Given the description of an element on the screen output the (x, y) to click on. 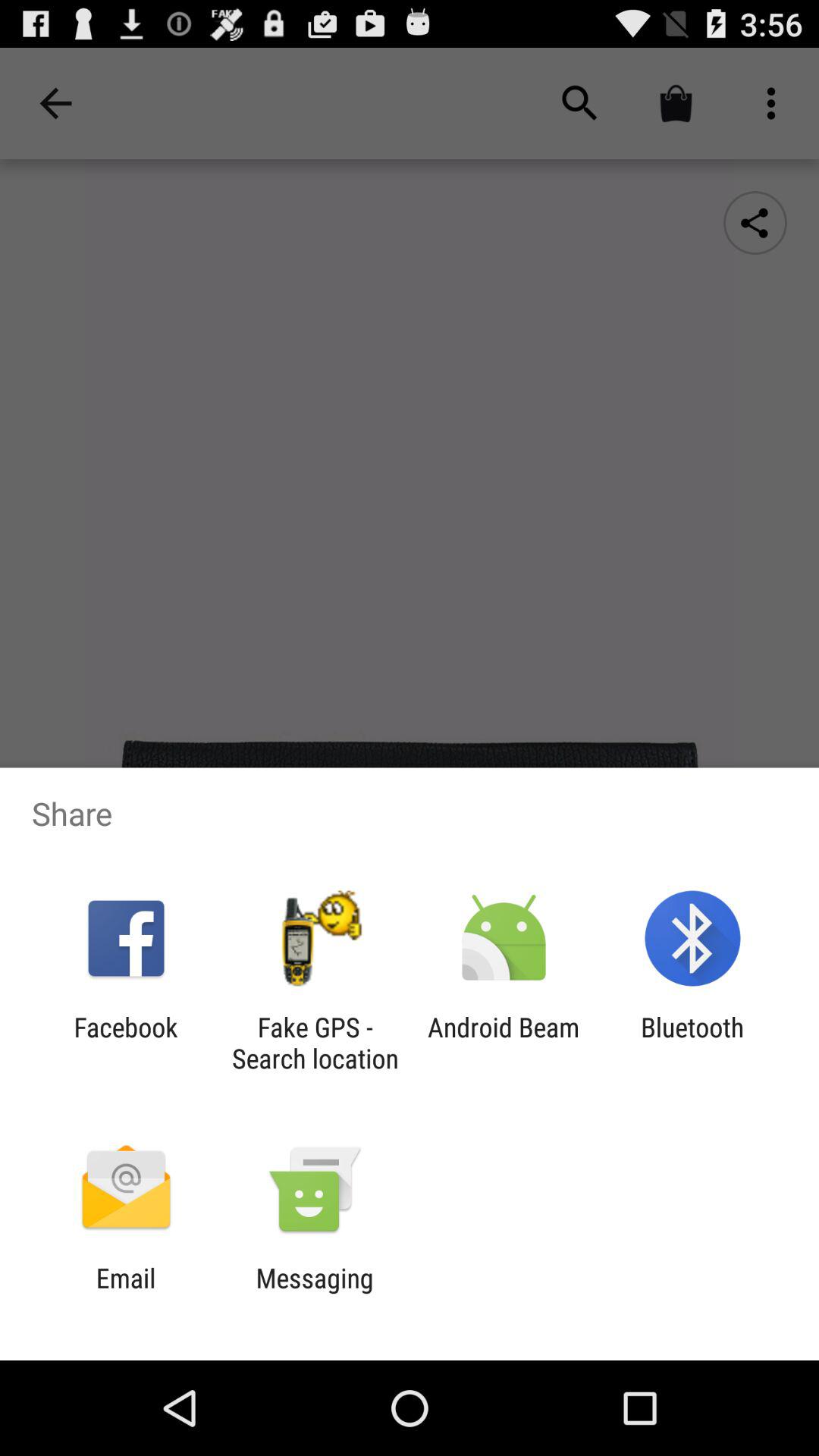
select android beam icon (503, 1042)
